Given the description of an element on the screen output the (x, y) to click on. 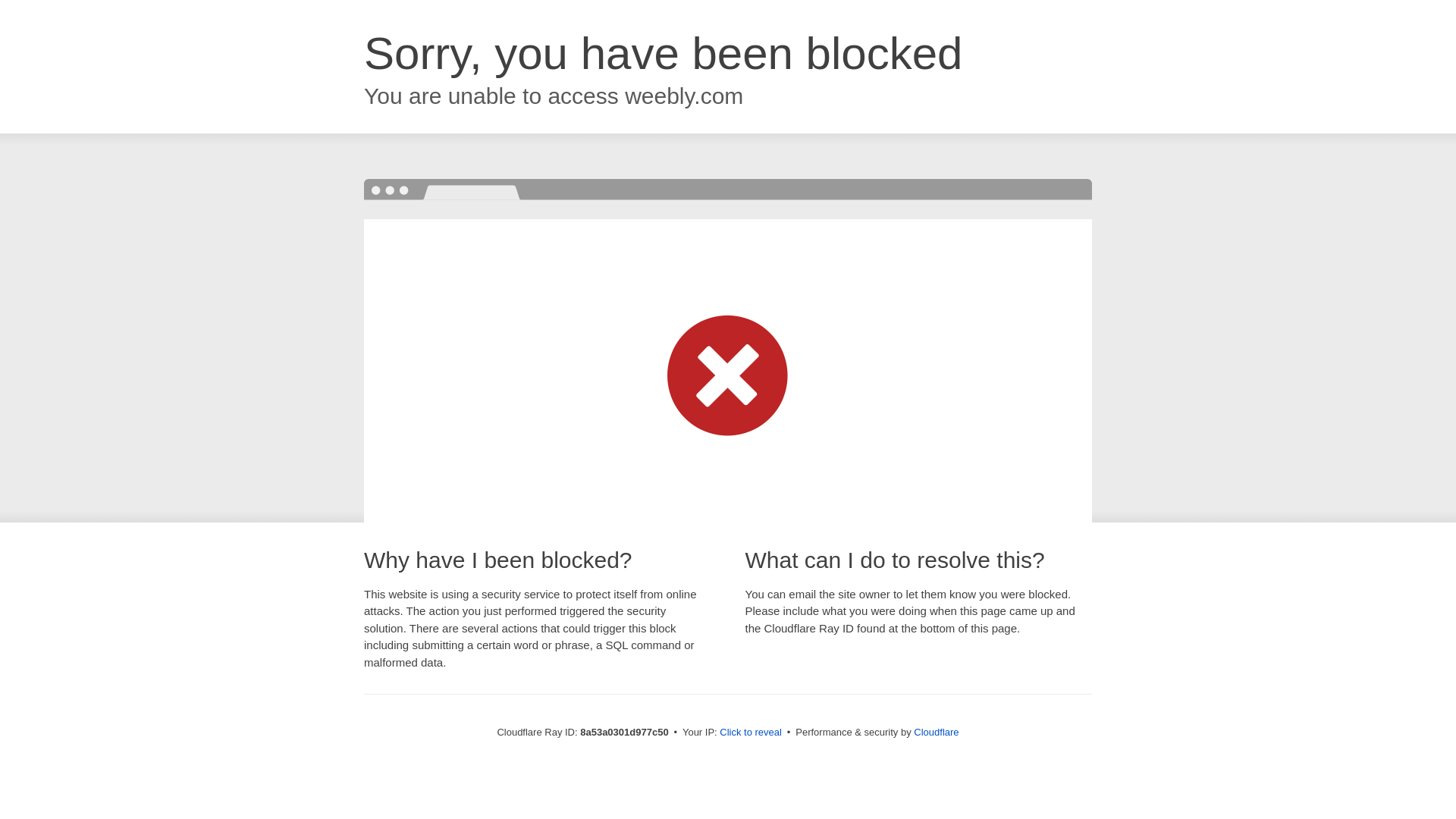
Cloudflare (936, 731)
Click to reveal (750, 732)
